Given the description of an element on the screen output the (x, y) to click on. 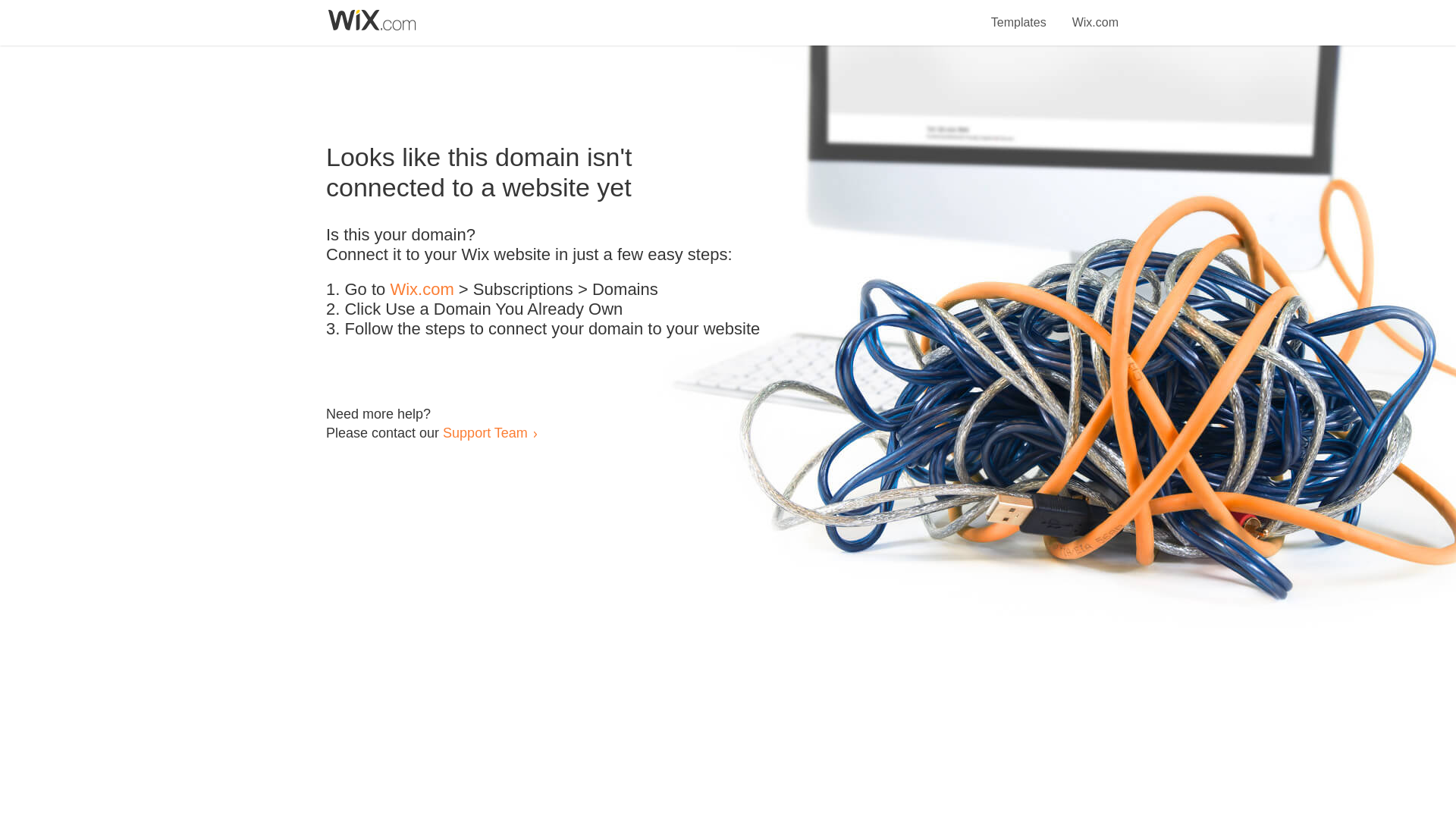
Wix.com (1095, 14)
Templates (1018, 14)
Wix.com (421, 289)
Support Team (484, 432)
